Given the description of an element on the screen output the (x, y) to click on. 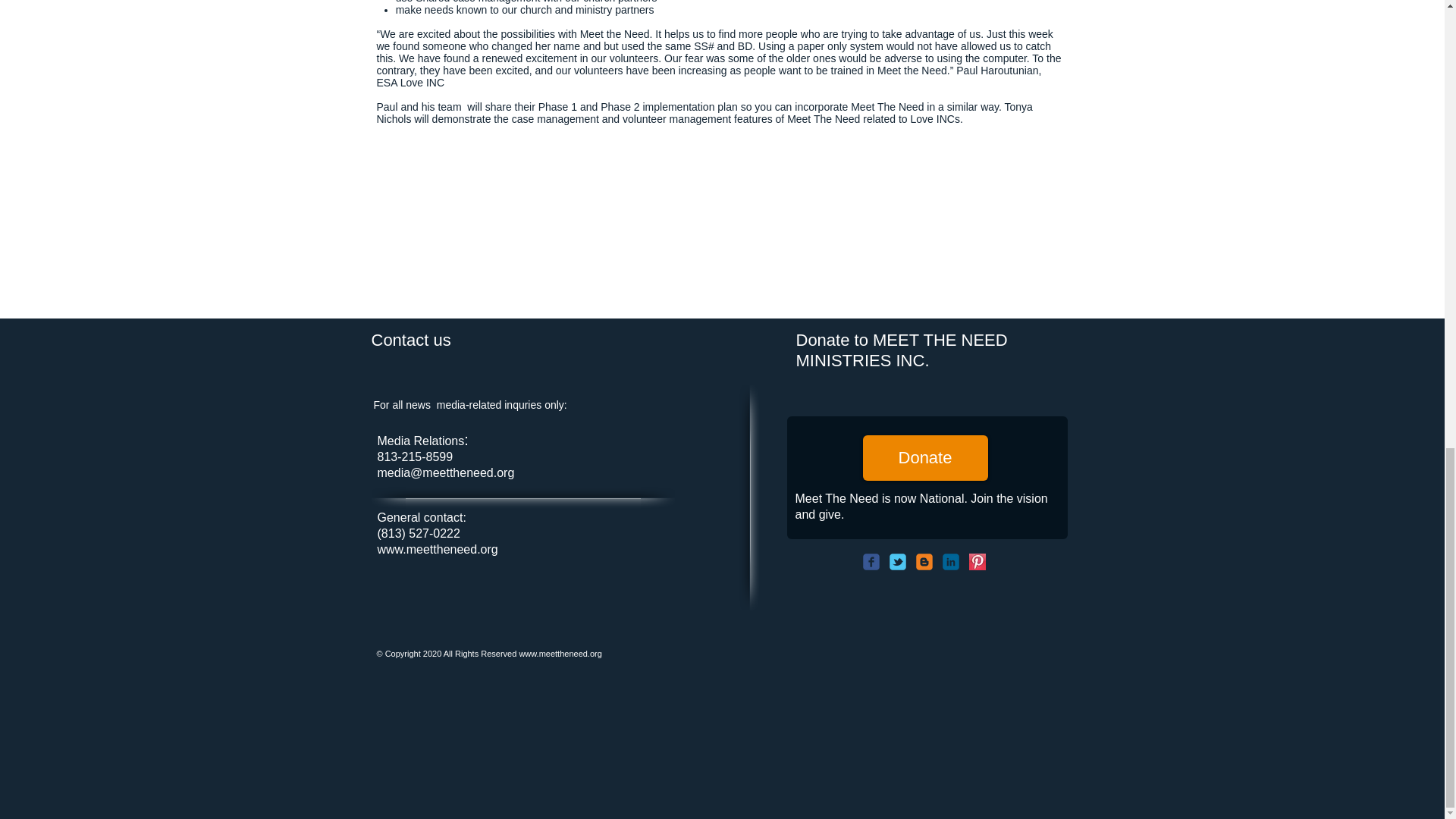
Donate (925, 457)
www.meettheneed.org (559, 653)
www.meettheneed.org (437, 549)
